Given the description of an element on the screen output the (x, y) to click on. 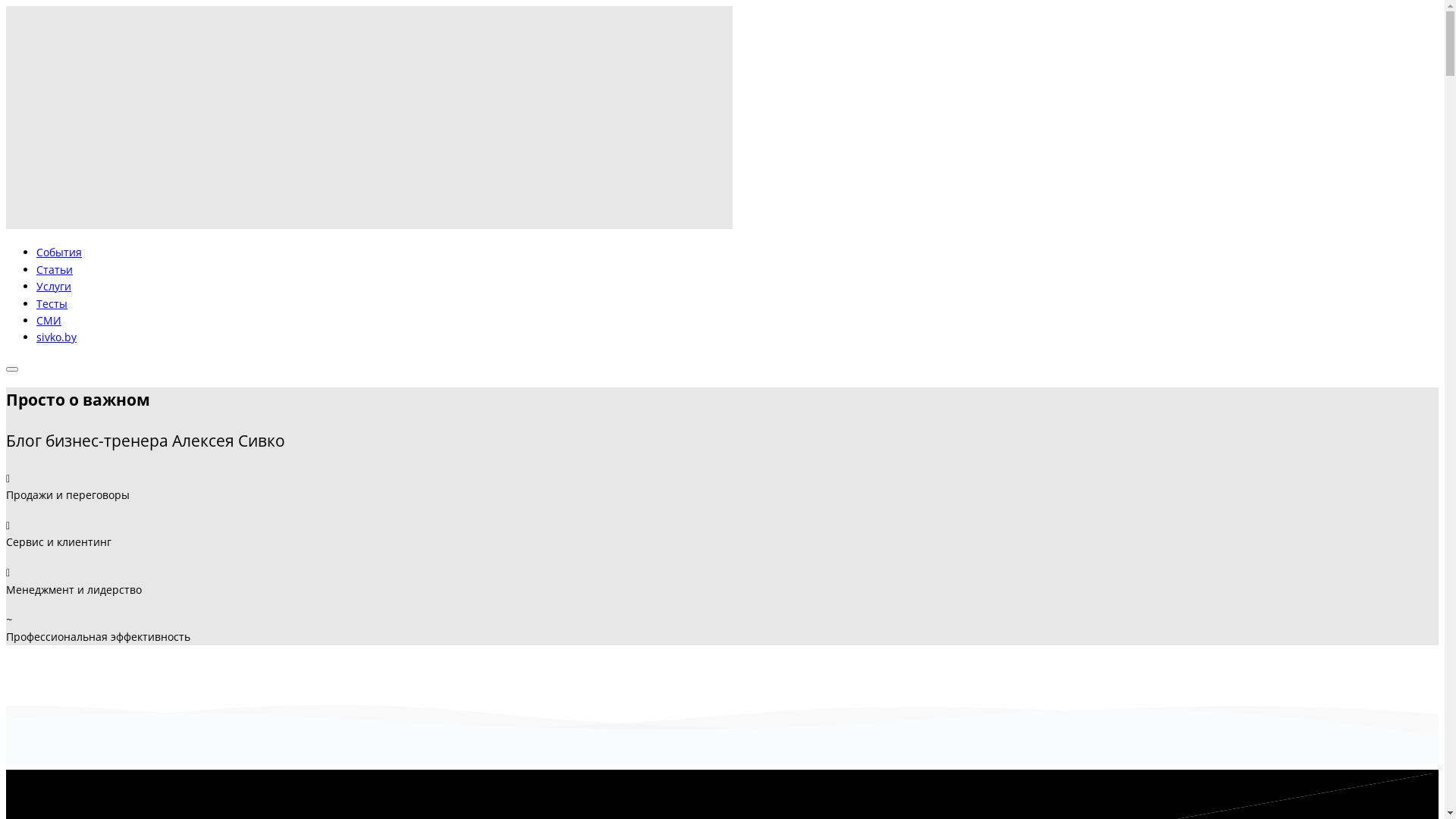
sivko.by Element type: text (56, 336)
